Given the description of an element on the screen output the (x, y) to click on. 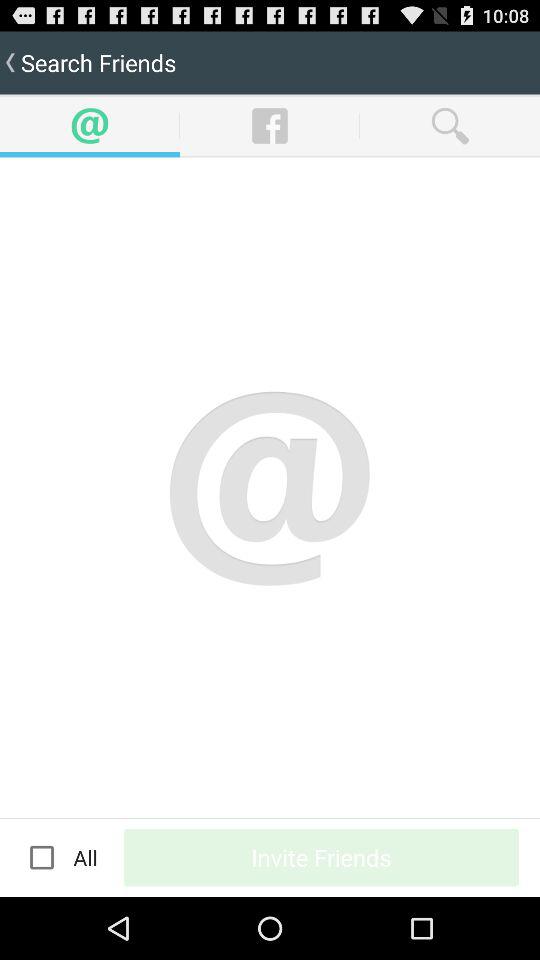
turn off icon to the left of the all app (42, 857)
